Given the description of an element on the screen output the (x, y) to click on. 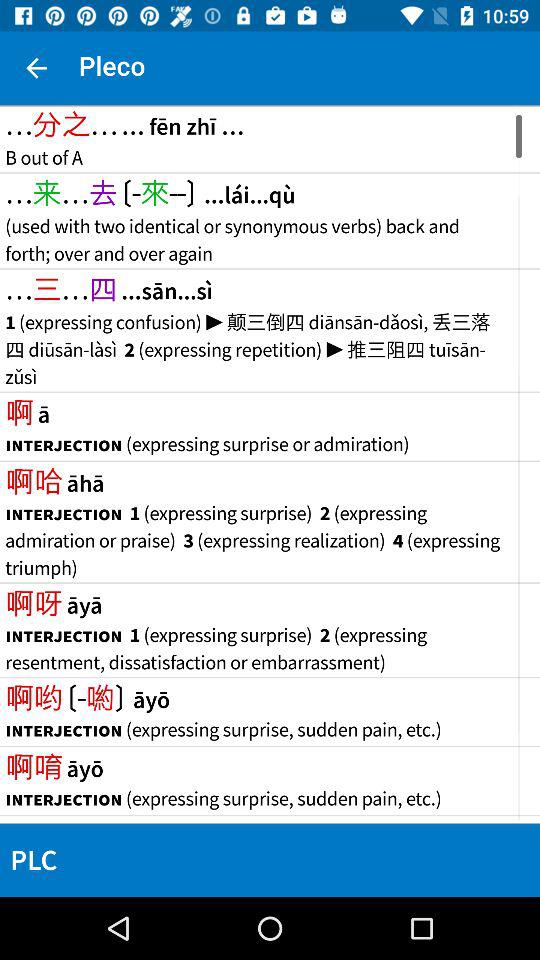
open icon next to pleco item (36, 68)
